Given the description of an element on the screen output the (x, y) to click on. 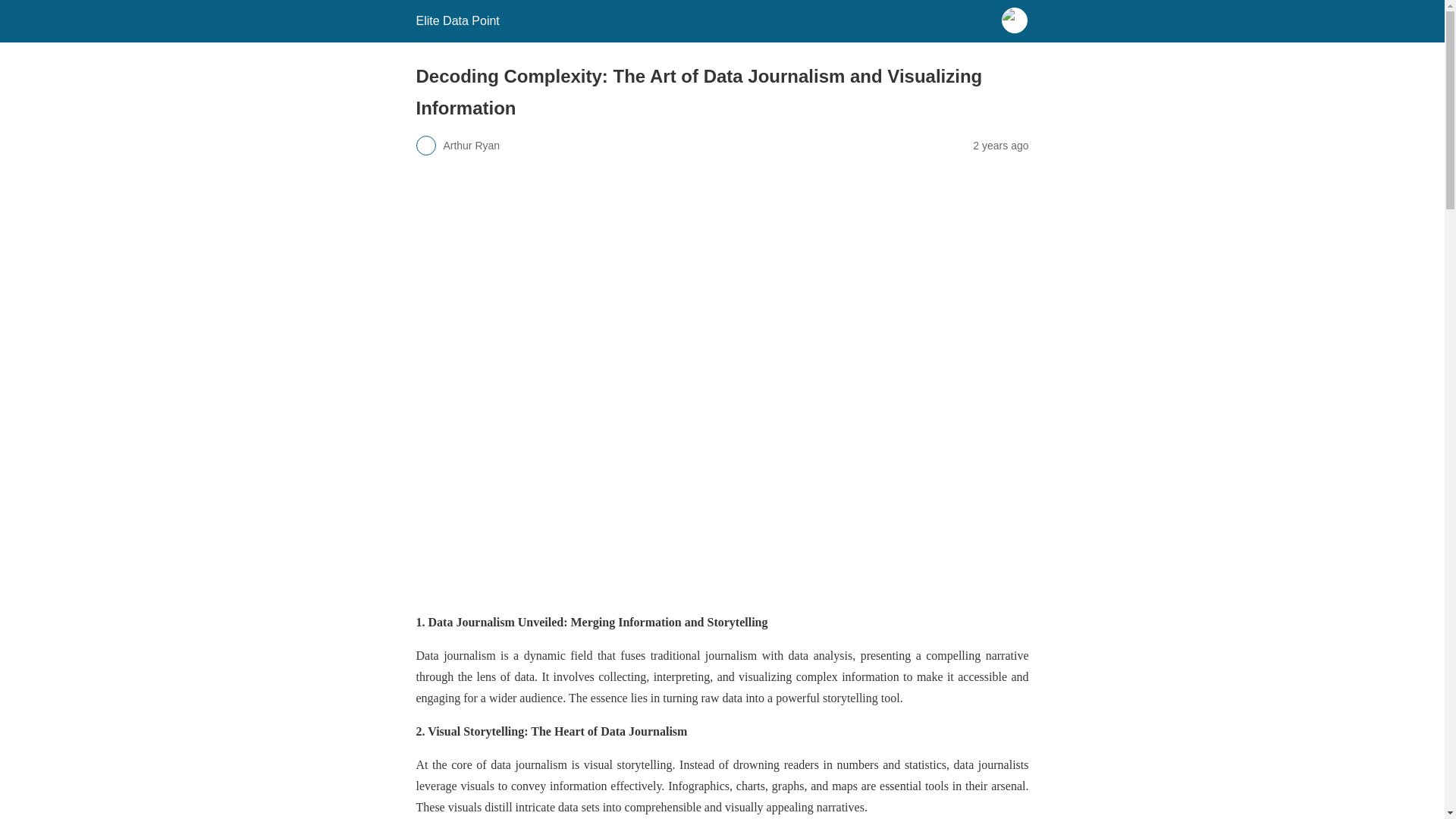
Elite Data Point (456, 20)
